Given the description of an element on the screen output the (x, y) to click on. 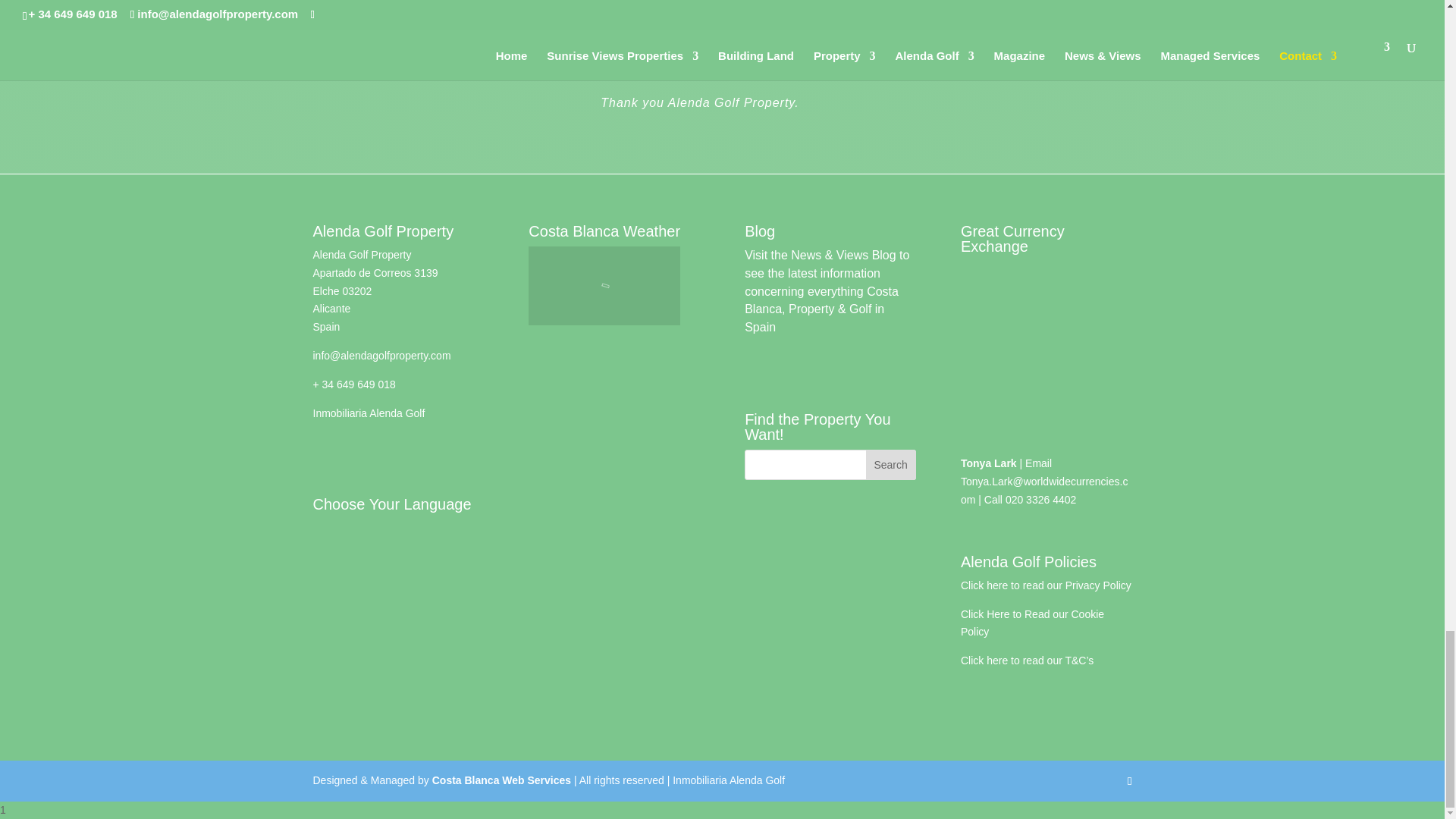
Search (890, 464)
Great Currency Exchange (1045, 332)
Search (890, 464)
